Given the description of an element on the screen output the (x, y) to click on. 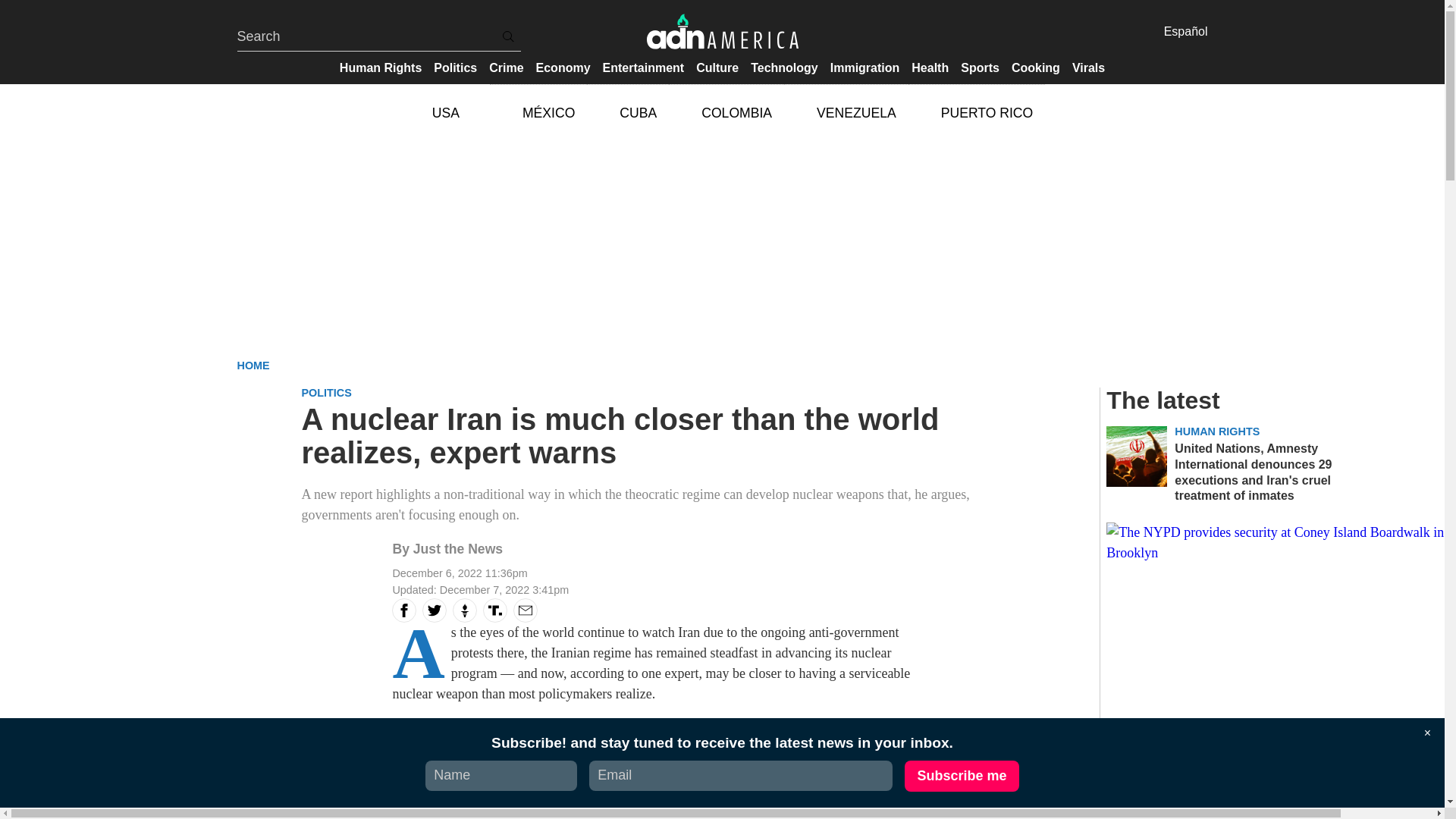
Cooking (1035, 67)
POLITICS (325, 392)
CUBA (627, 112)
HOME (252, 365)
Human Rights (380, 67)
Crime (506, 67)
Health (930, 67)
VENEZUELA (846, 112)
Economy (562, 67)
